Given the description of an element on the screen output the (x, y) to click on. 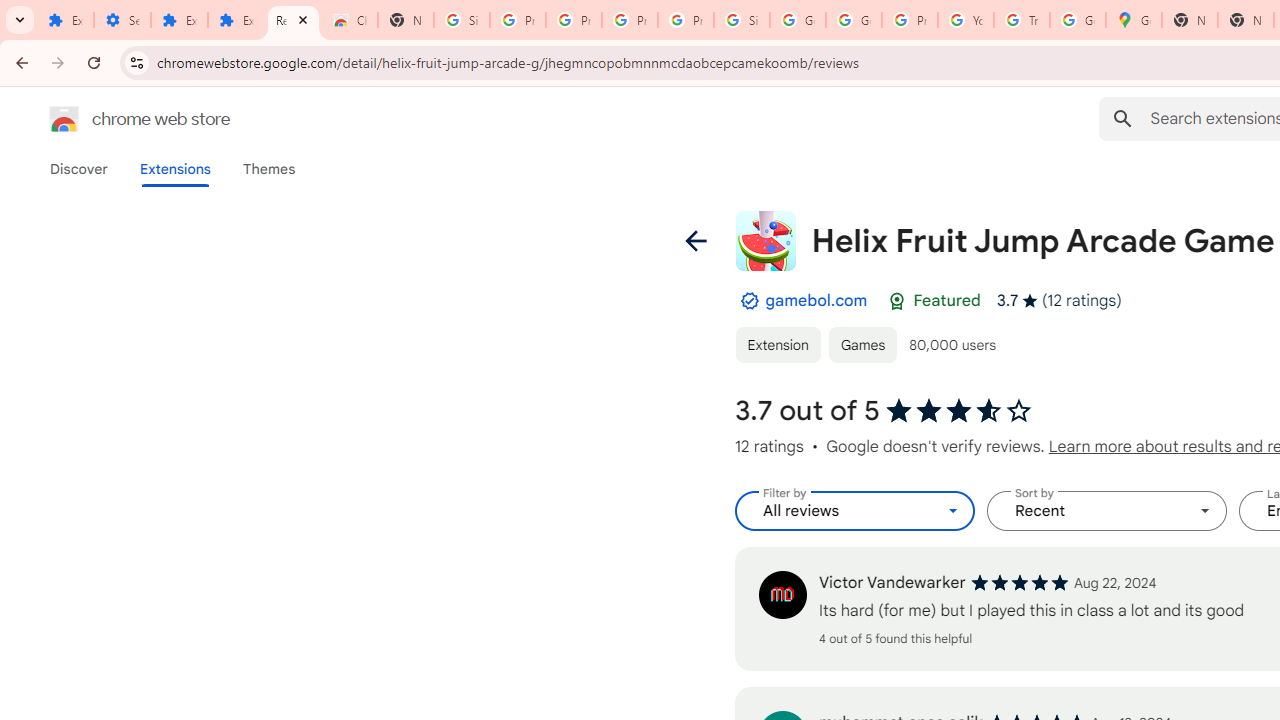
Navigate back to item detail page (694, 240)
Extension (777, 344)
Settings (122, 20)
Extensions (235, 20)
Chrome Web Store logo (63, 118)
Games (863, 344)
New Tab (405, 20)
Themes (269, 169)
Average rating 3.7 out of 5 stars. 12 ratings. (1058, 300)
Chrome Web Store logo chrome web store (118, 118)
Sort by Recent (1106, 511)
